Given the description of an element on the screen output the (x, y) to click on. 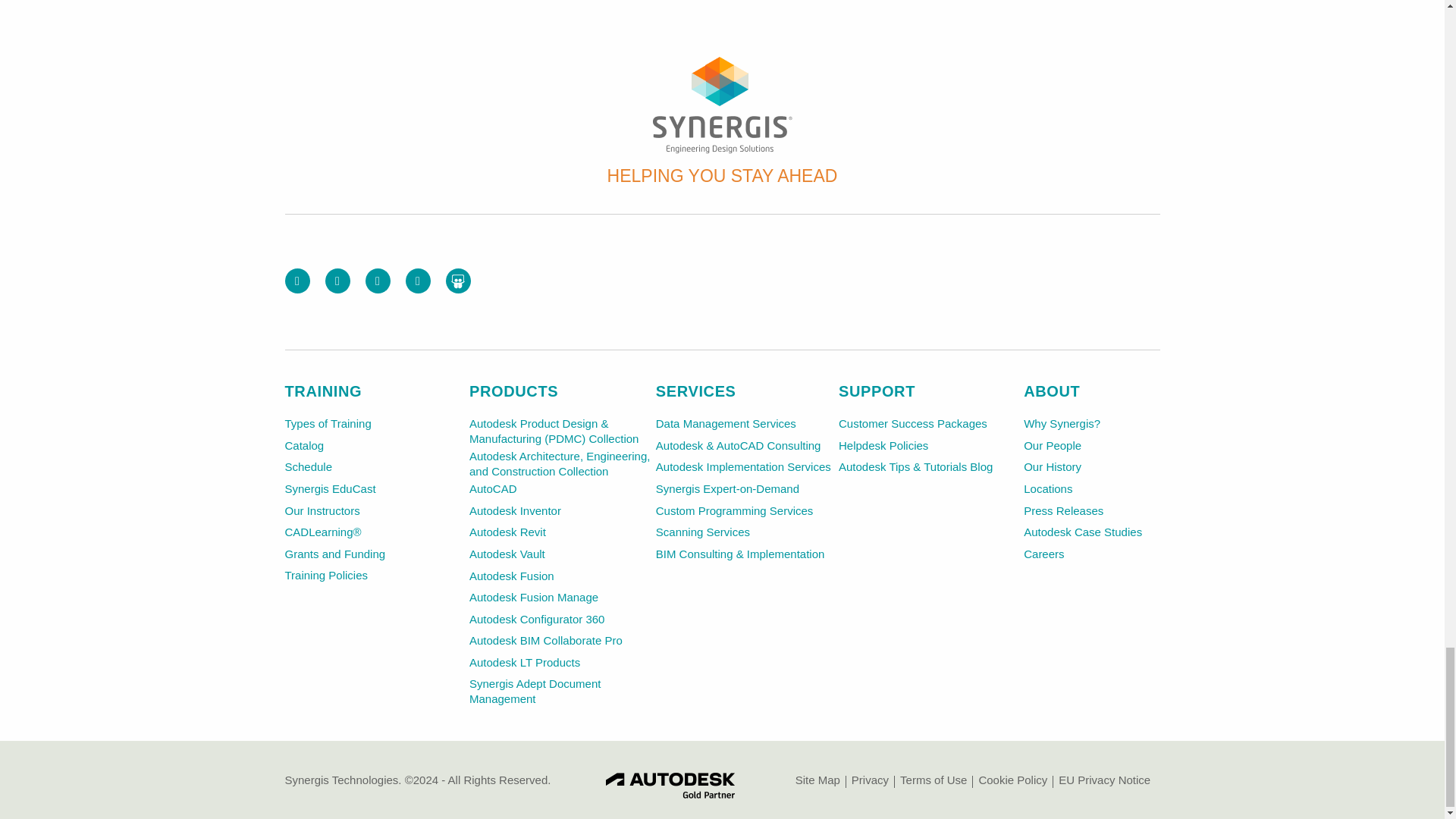
Slideshare (457, 280)
YouTube (416, 280)
Twitter (336, 280)
LinkedIn (377, 280)
Form 0 (972, 278)
Facebook (297, 280)
